Given the description of an element on the screen output the (x, y) to click on. 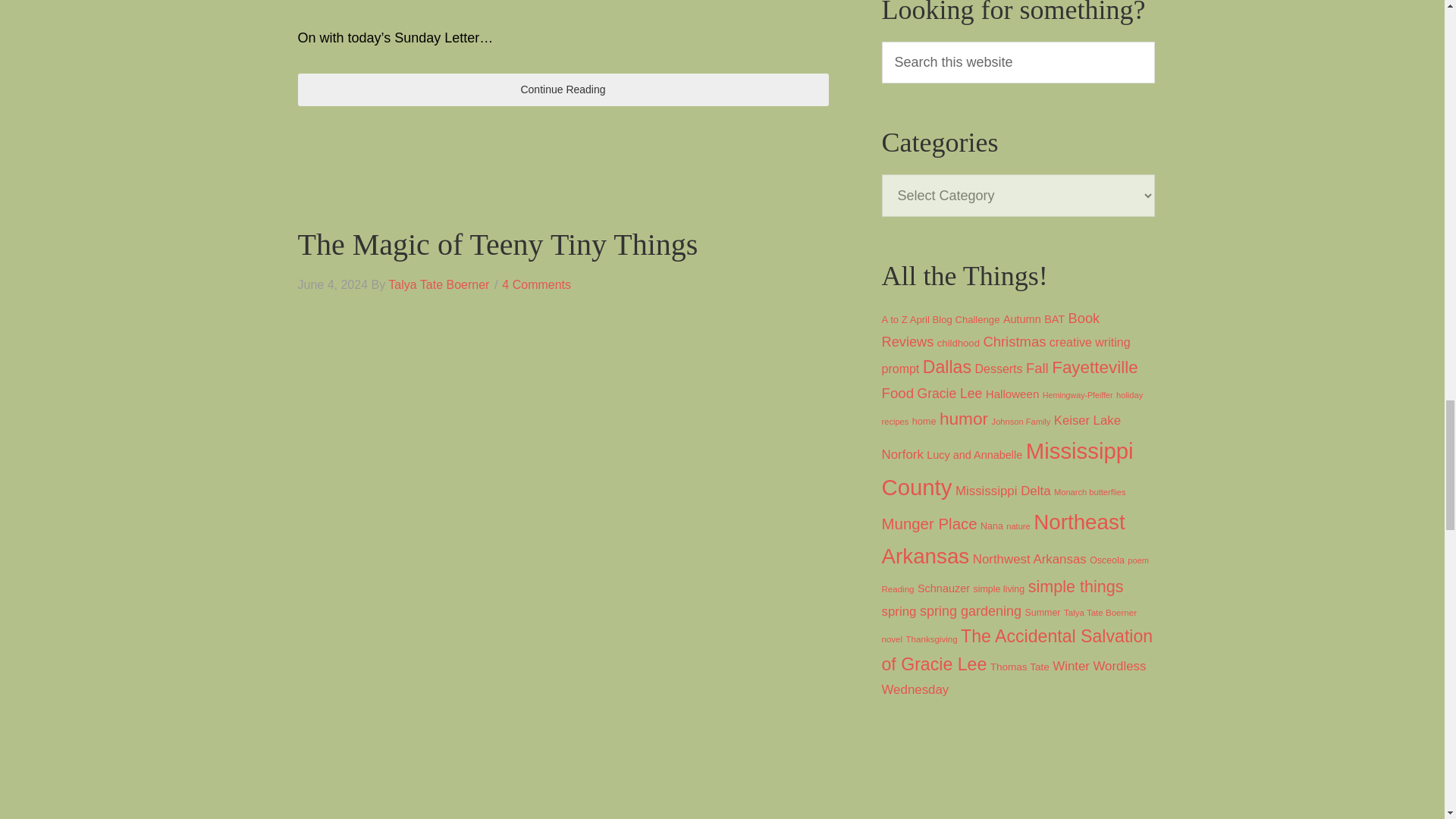
4 Comments (536, 284)
Talya Tate Boerner (438, 284)
The Magic of Teeny Tiny Things (497, 244)
Continue Reading (562, 89)
